Given the description of an element on the screen output the (x, y) to click on. 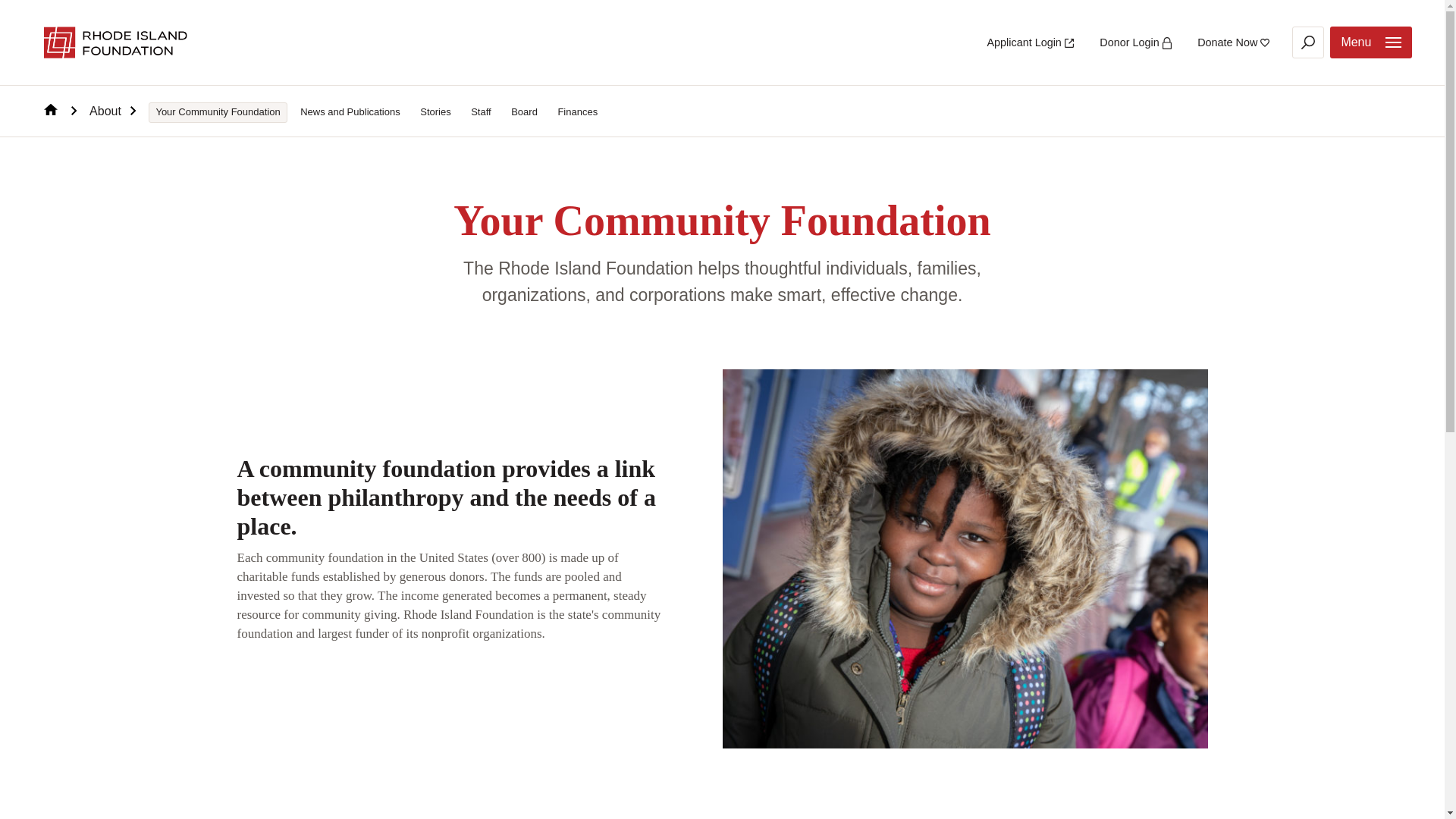
Stories (435, 112)
Donor Login (1134, 42)
Home (60, 110)
Reveal search bar (1307, 42)
Applicant Login (1030, 42)
News and Publications (350, 112)
Donate Now (1232, 42)
Staff (480, 112)
About (112, 110)
Your Community Foundation (217, 112)
Finances (577, 112)
Board (523, 112)
Menu (1371, 42)
